Given the description of an element on the screen output the (x, y) to click on. 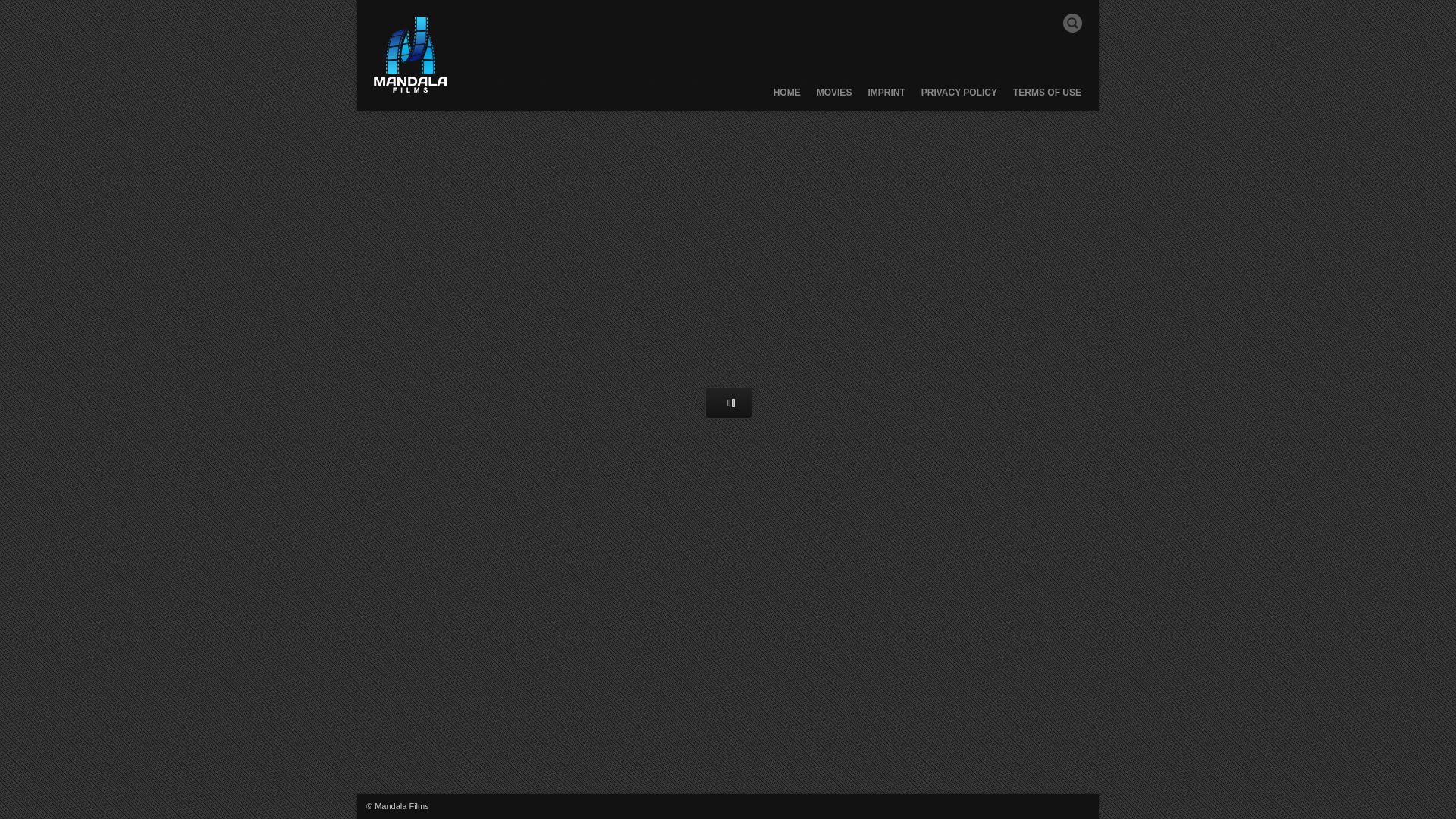
MOVIES (833, 97)
Mandala Films (410, 55)
TERMS OF USE (1046, 97)
HOME (787, 97)
IMPRINT (885, 97)
PRIVACY POLICY (958, 97)
